Given the description of an element on the screen output the (x, y) to click on. 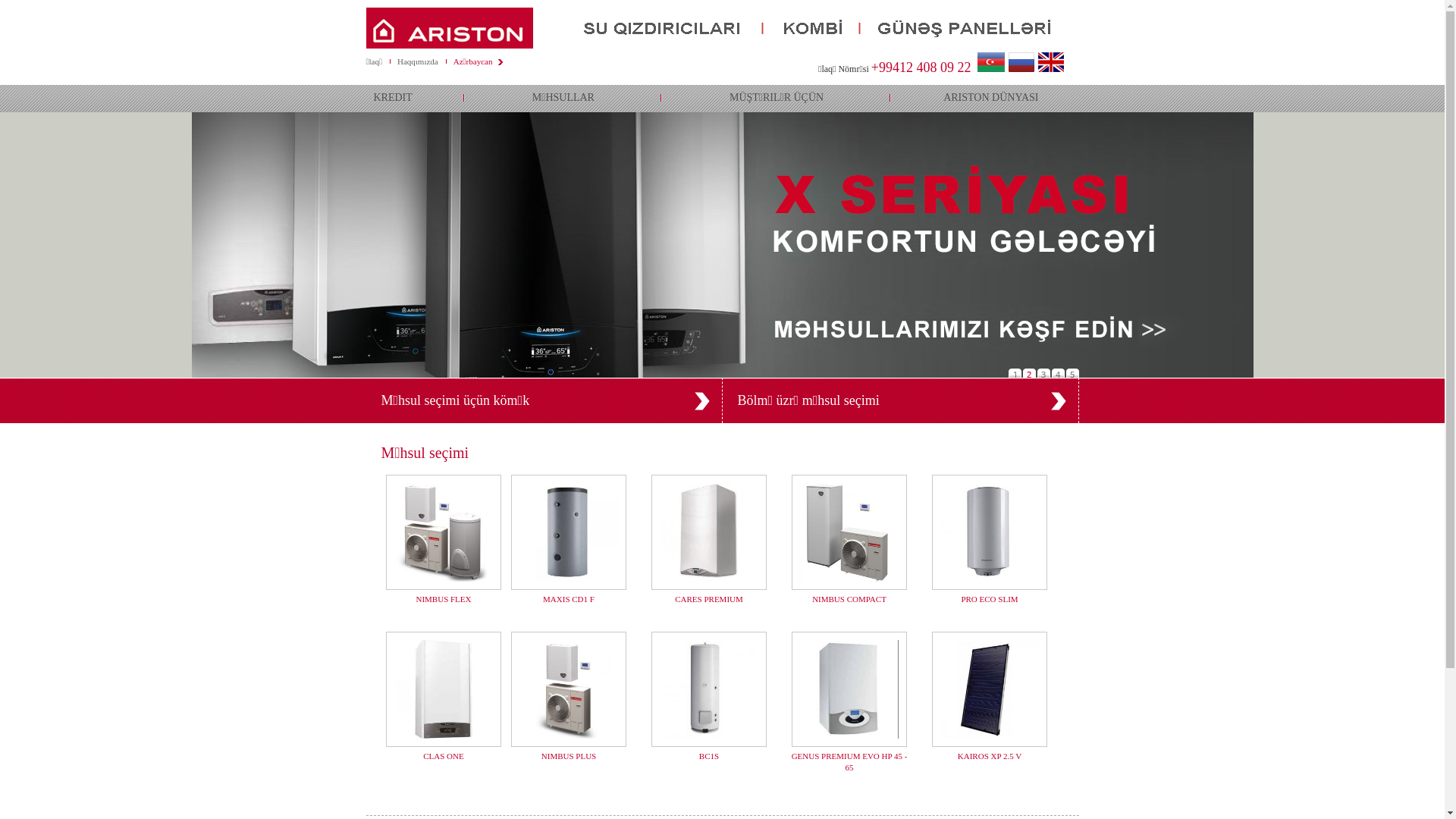
ABS VELIS EVO QH Element type: hover (442, 533)
ABS VELIS EVO QH Element type: hover (988, 533)
ABS VELIS EVO QH Element type: hover (849, 533)
ABS VELIS EVO QH Element type: hover (442, 690)
+99412 408 09 22 Element type: text (921, 67)
ABS VELIS EVO QH Element type: hover (568, 690)
ABS VELIS EVO QH Element type: hover (988, 690)
ABS VELIS EVO QH Element type: hover (568, 533)
ABS VELIS EVO QH Element type: hover (849, 690)
ABS VELIS EVO QH Element type: hover (708, 690)
KREDIT Element type: text (414, 98)
ABS VELIS EVO QH Element type: hover (708, 533)
